Given the description of an element on the screen output the (x, y) to click on. 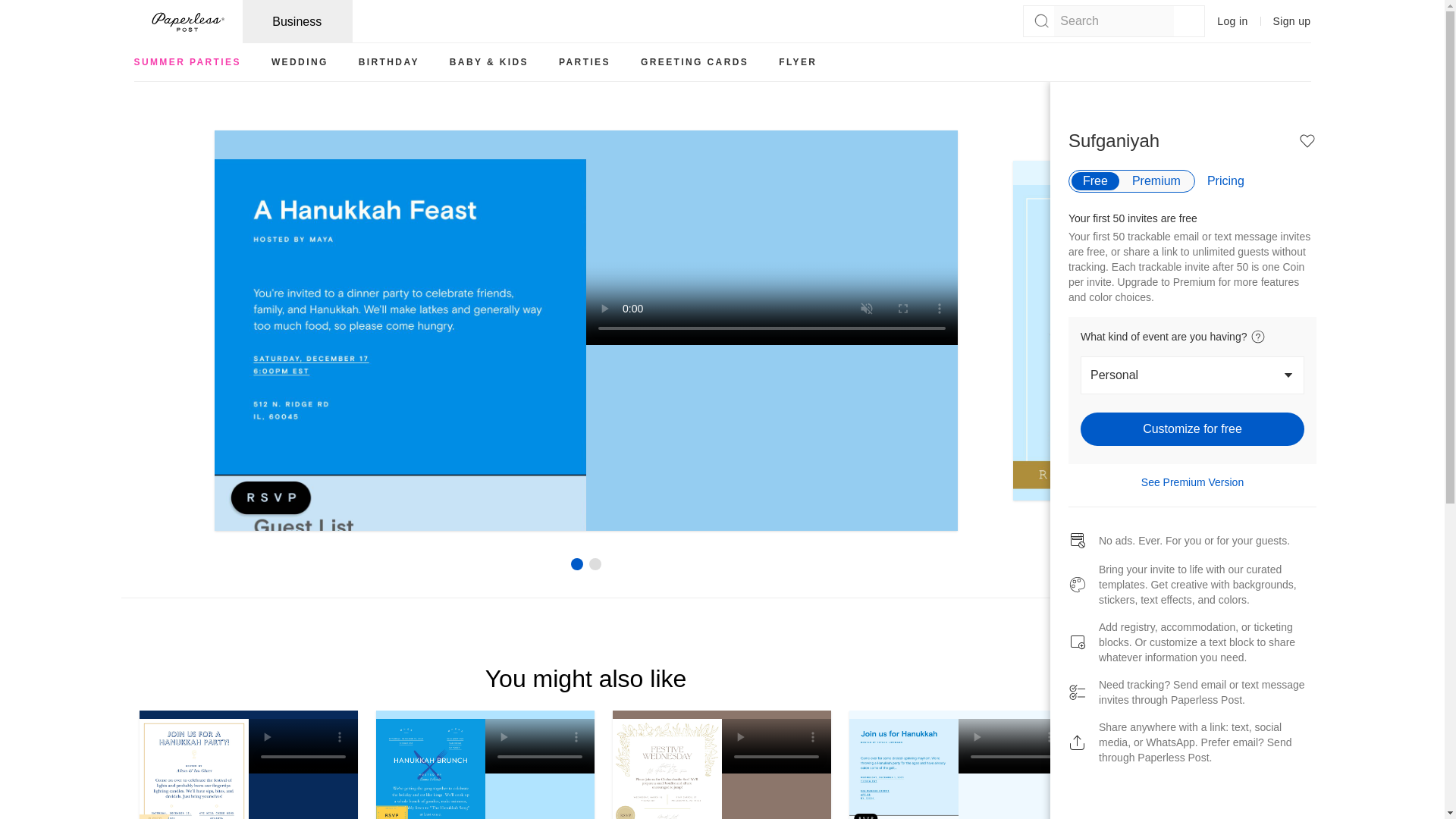
WEDDING (299, 63)
Log in (1232, 20)
SUMMER PARTIES (186, 63)
Business (297, 21)
Sign up (1291, 20)
Skip to content (17, 5)
